Given the description of an element on the screen output the (x, y) to click on. 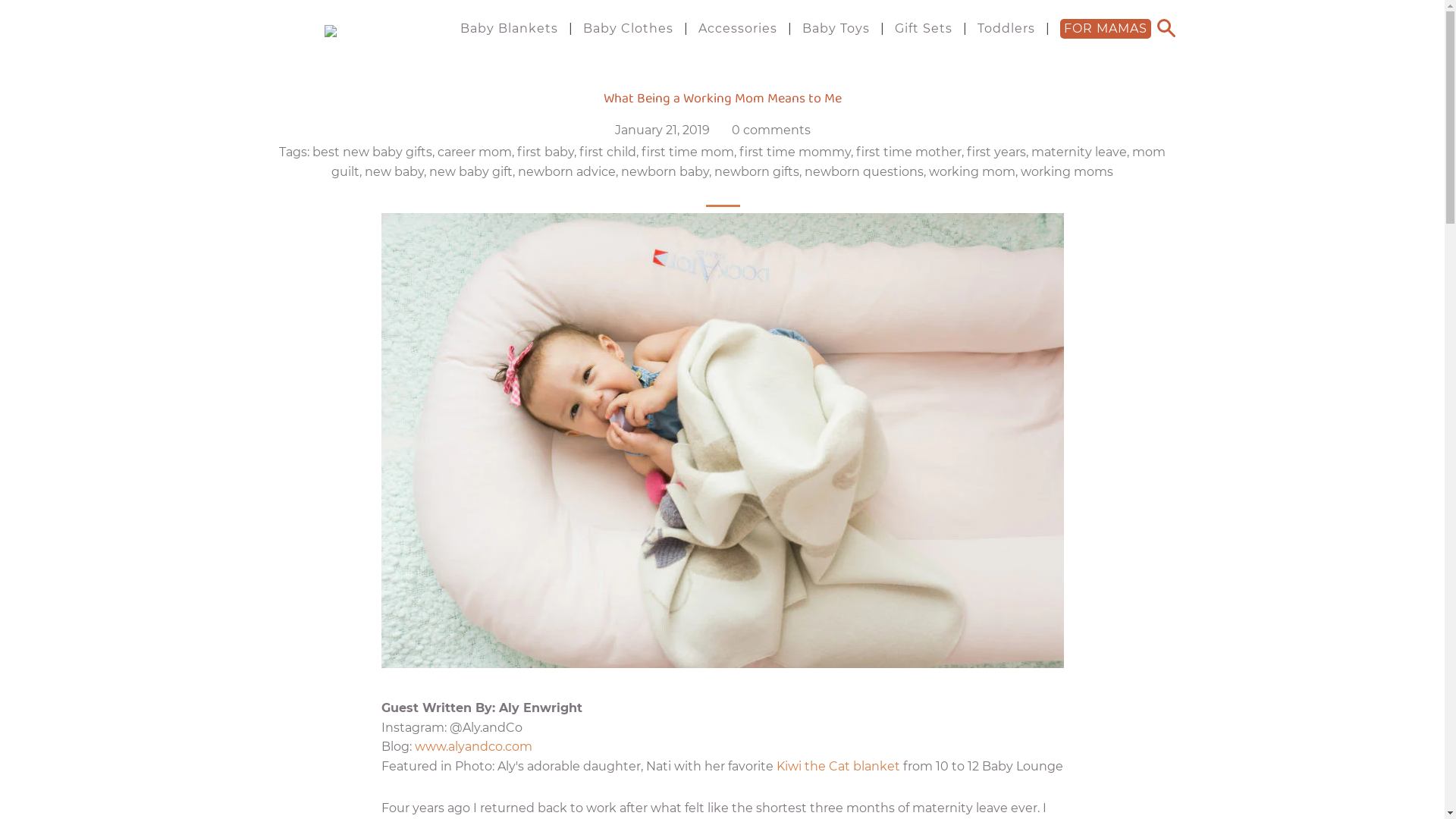
first time mom Element type: text (687, 151)
Baby Clothes Element type: text (628, 28)
Baby Blankets Element type: text (509, 28)
first baby Element type: text (545, 151)
Baby Toys Element type: text (835, 28)
first time mother Element type: text (908, 151)
Kiwi the Cat blanket Element type: text (838, 766)
newborn baby Element type: text (665, 171)
working mom Element type: text (971, 171)
FOR MAMAS Element type: text (1105, 28)
www.alyandco.com Element type: text (472, 746)
first child Element type: text (607, 151)
newborn gifts Element type: text (756, 171)
newborn advice Element type: text (566, 171)
newborn questions Element type: text (863, 171)
first time mommy Element type: text (794, 151)
first years Element type: text (996, 151)
mom guilt Element type: text (748, 161)
working moms Element type: text (1066, 171)
Accessories Element type: text (737, 28)
Toddlers Element type: text (1006, 28)
maternity leave Element type: text (1078, 151)
best new baby gifts Element type: text (372, 151)
new baby Element type: text (393, 171)
Gift Sets Element type: text (923, 28)
career mom Element type: text (474, 151)
new baby gift Element type: text (470, 171)
